Given the description of an element on the screen output the (x, y) to click on. 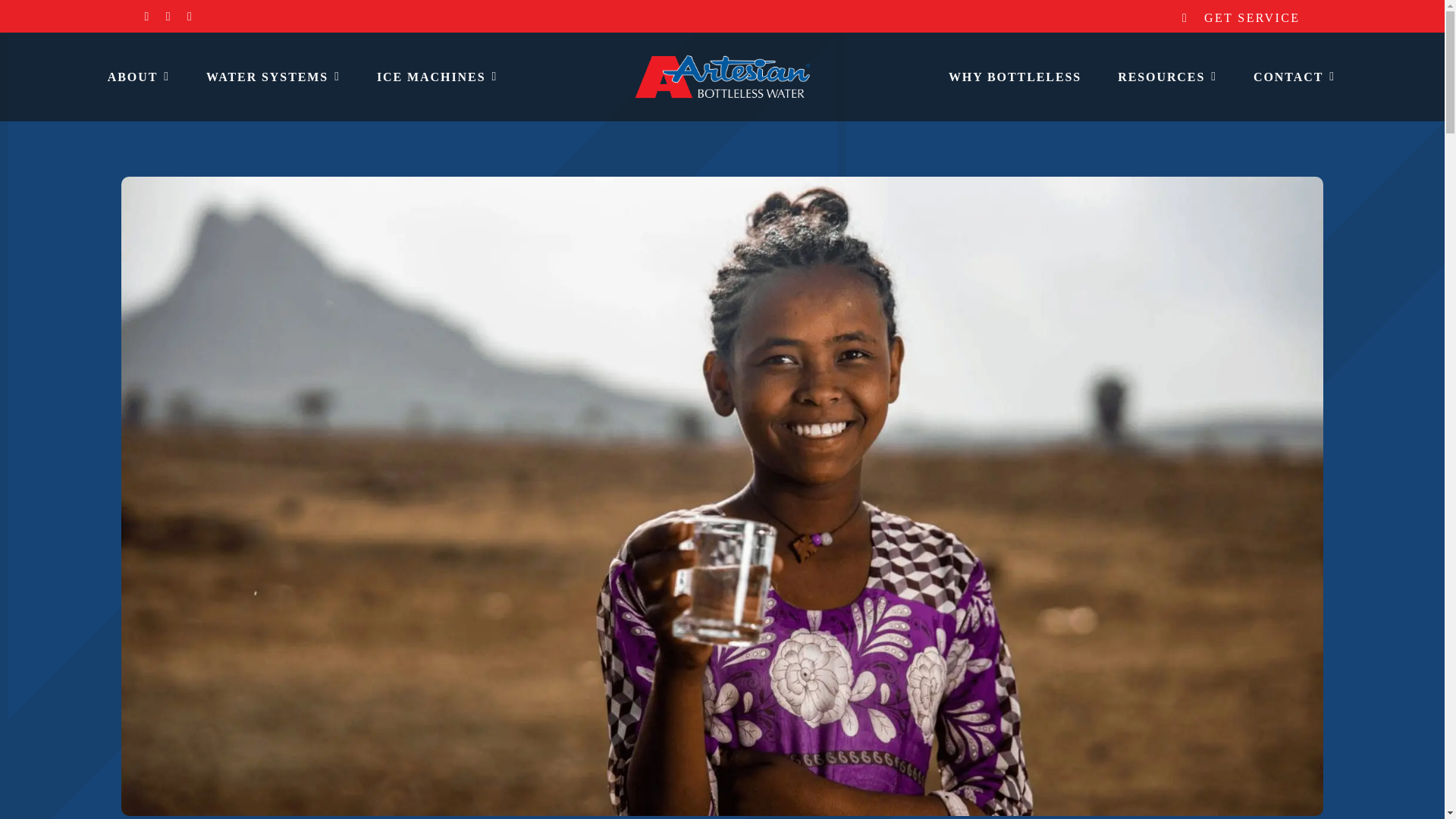
GET SERVICE (1252, 17)
ABOUT (137, 76)
RESOURCES (1166, 76)
WHY BOTTLELESS (1014, 76)
ICE MACHINES (436, 76)
WATER SYSTEMS (272, 76)
